Given the description of an element on the screen output the (x, y) to click on. 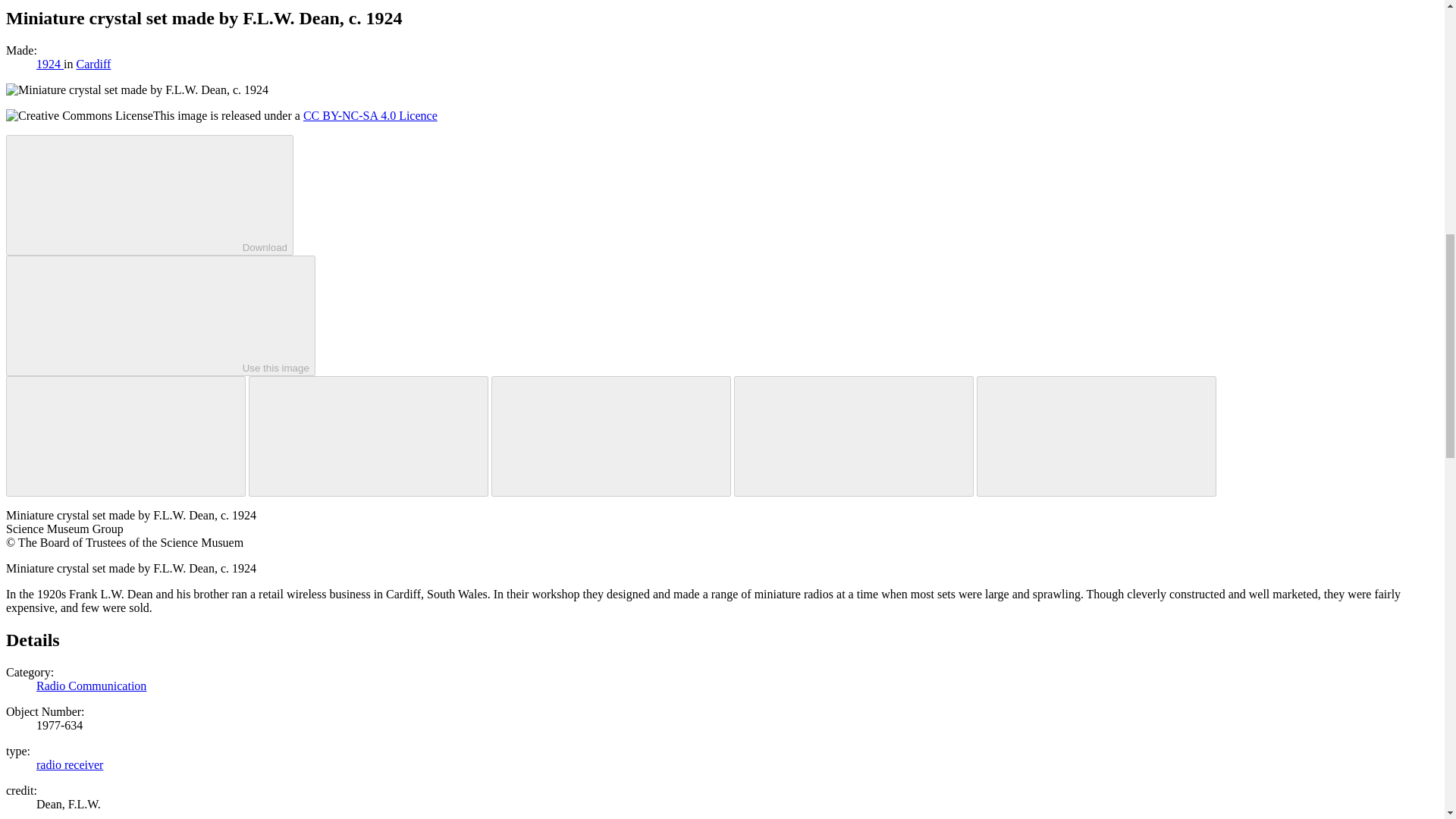
Cardiff (92, 63)
CC BY-NC-SA 4.0 Licence (370, 115)
Use this image (160, 315)
Download (149, 195)
1924 (50, 63)
